Given the description of an element on the screen output the (x, y) to click on. 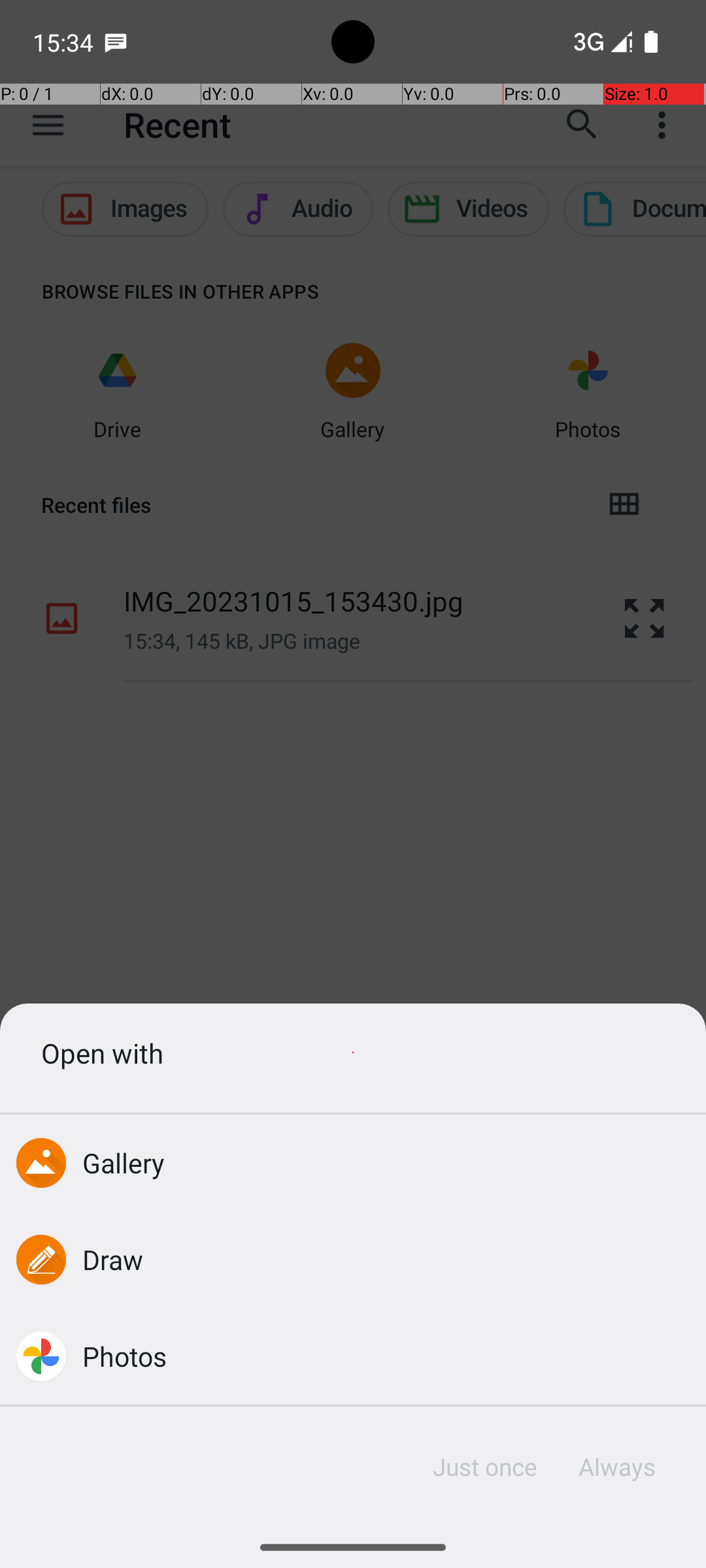
Open with Element type: android.widget.TextView (352, 1052)
Just once Element type: android.widget.Button (484, 1466)
Draw Element type: android.widget.TextView (112, 1258)
